Given the description of an element on the screen output the (x, y) to click on. 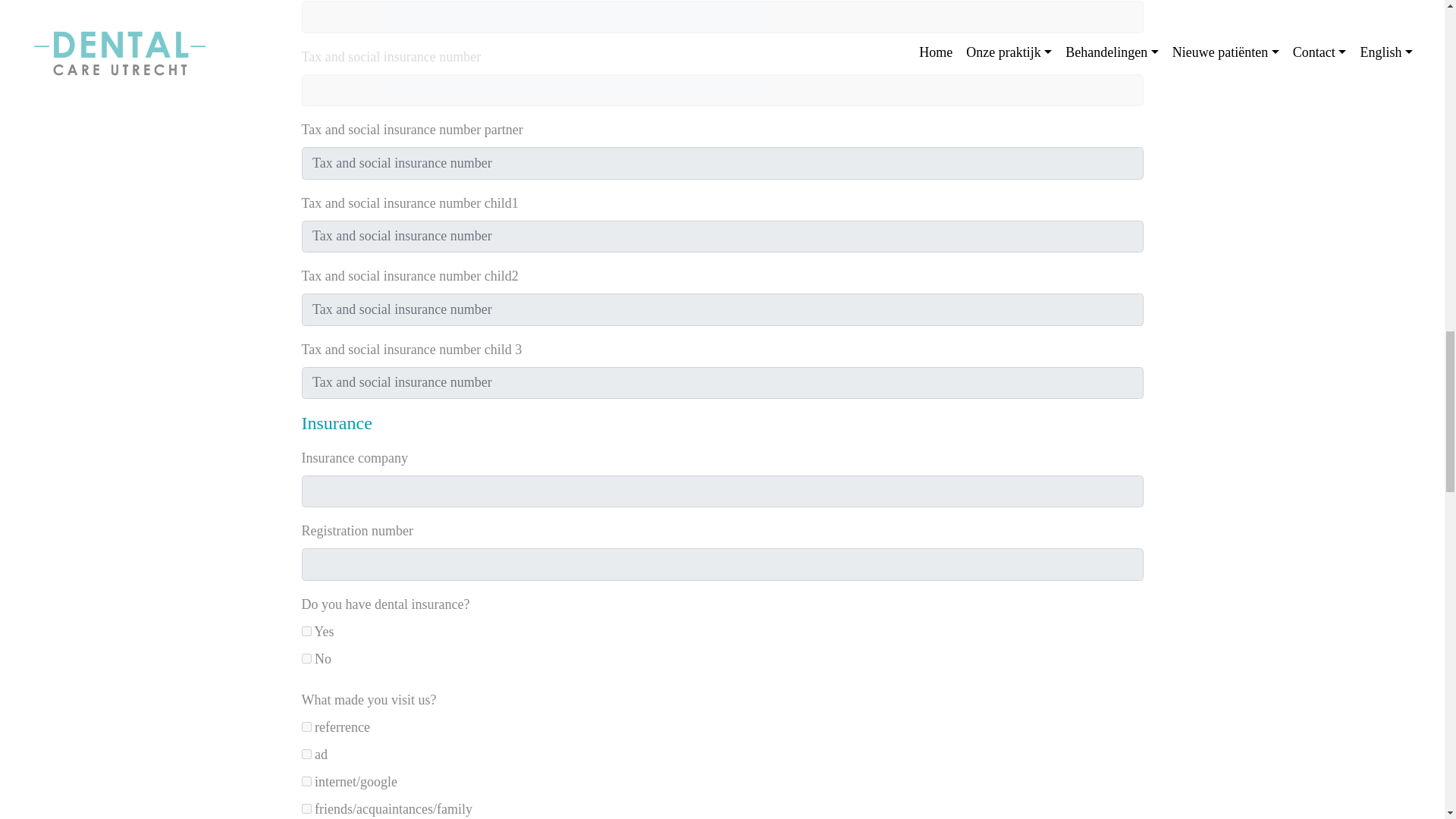
No (306, 658)
Yes (306, 631)
